Given the description of an element on the screen output the (x, y) to click on. 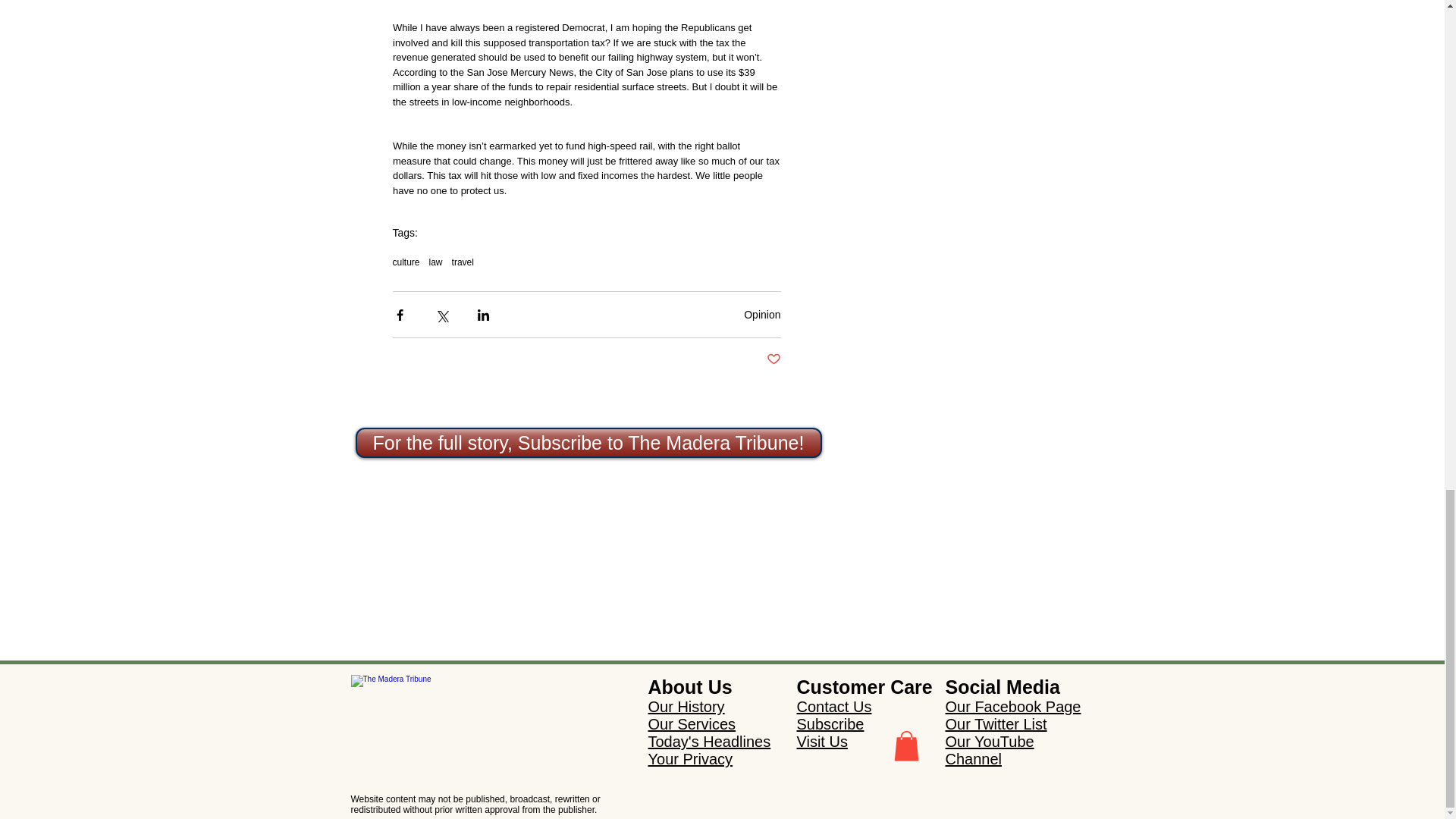
Visit Us (821, 741)
culture (406, 262)
Our Services (691, 723)
For the full story, Subscribe to The Madera Tribune! (588, 442)
Post not marked as liked (772, 359)
Your Privacy (689, 759)
Contact Us (833, 706)
Our Twitter List (995, 723)
Our History (685, 706)
Our YouTube Channel (988, 750)
Our Facebook Page (1012, 706)
travel (462, 262)
Subscribe (829, 723)
law (435, 262)
Reload the latest headlines (455, 687)
